Given the description of an element on the screen output the (x, y) to click on. 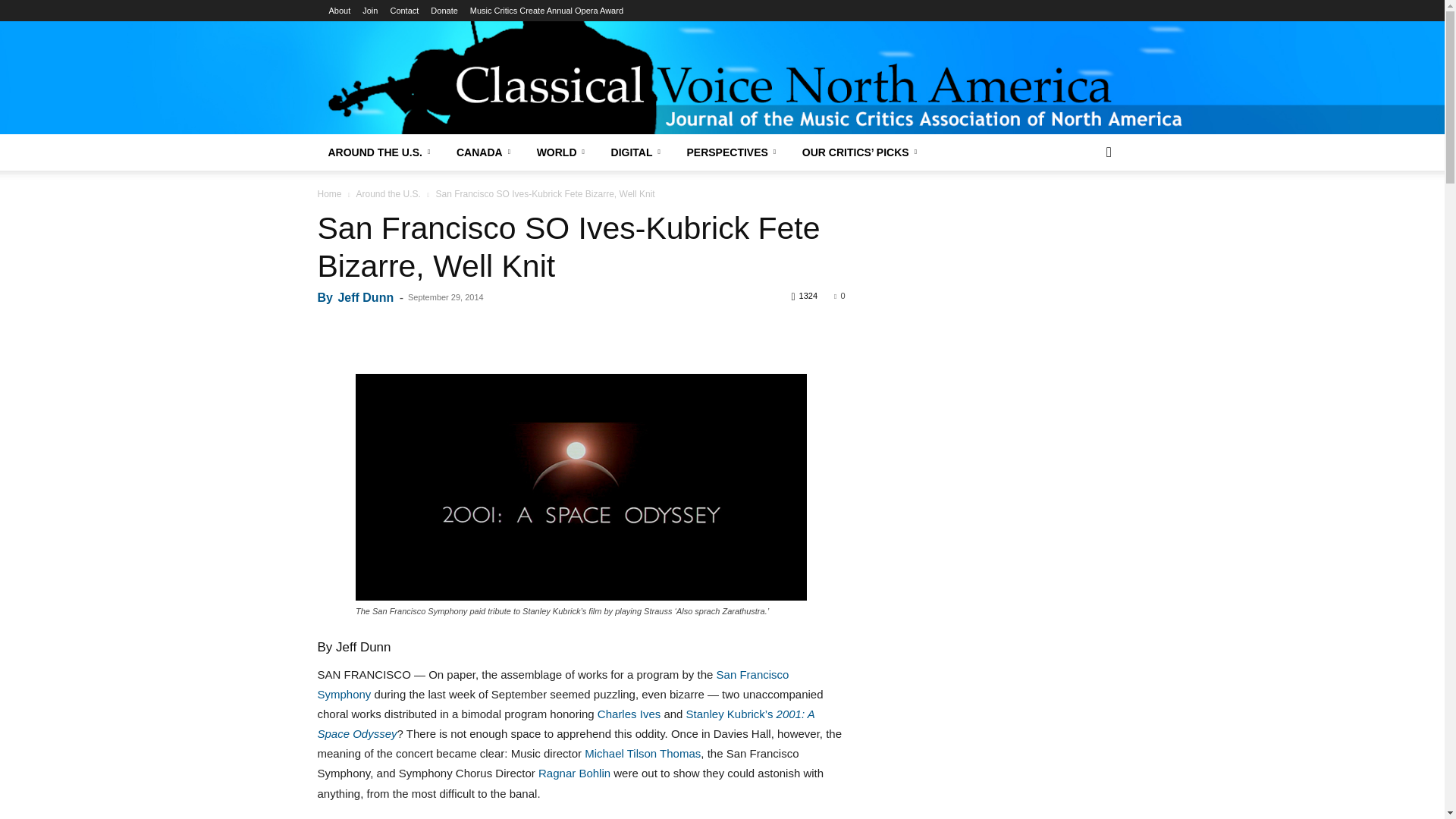
Join (369, 10)
About (339, 10)
Classical Voice North America (721, 64)
AROUND THE U.S. (381, 152)
Contact (404, 10)
Donate (443, 10)
Music Critics Create Annual Opera Award (546, 10)
